Given the description of an element on the screen output the (x, y) to click on. 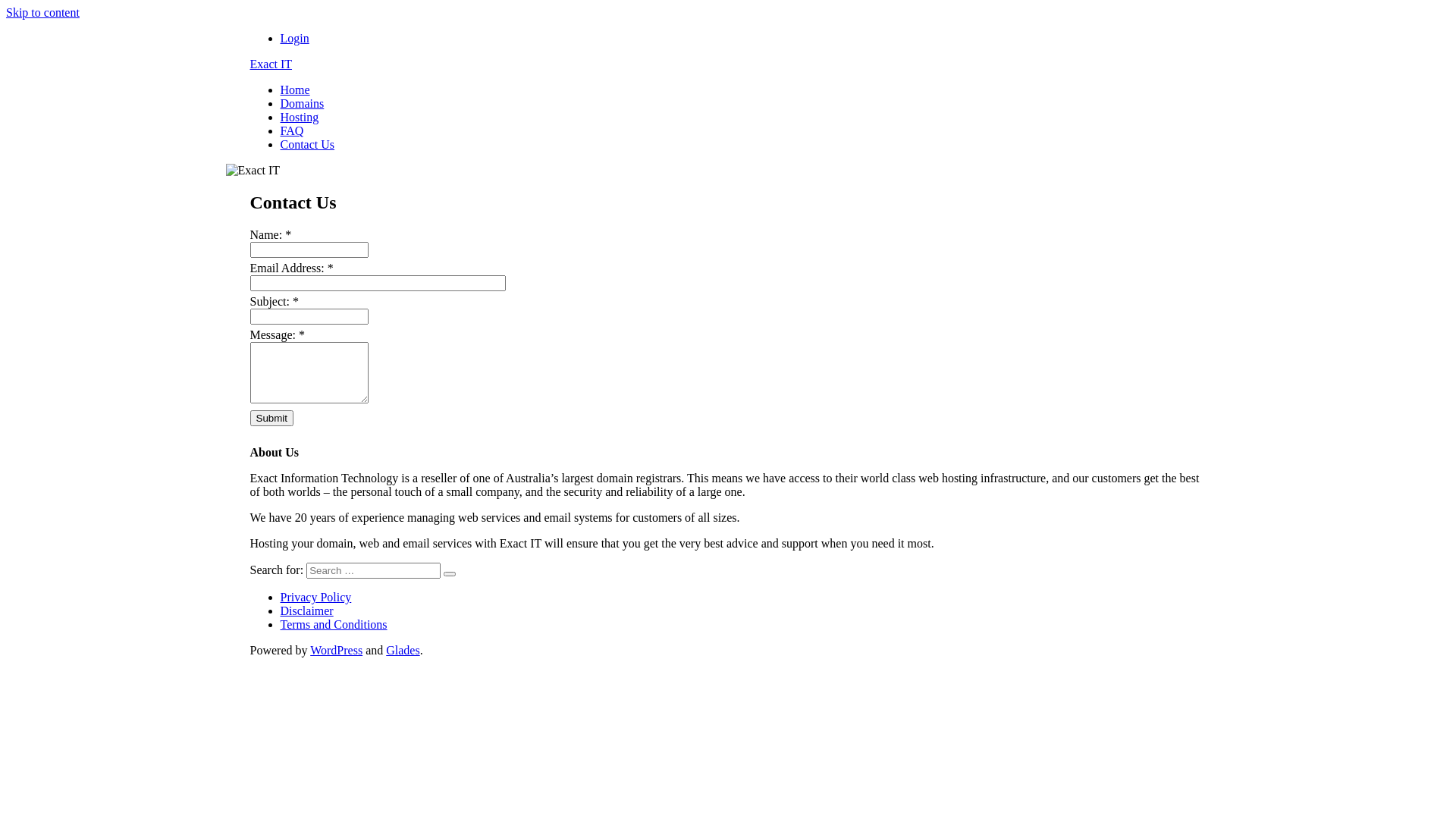
FAQ Element type: text (292, 130)
Disclaimer Element type: text (306, 610)
Privacy Policy Element type: text (315, 596)
Skip to content Element type: text (42, 12)
Submit Element type: text (271, 418)
Hosting Element type: text (299, 116)
Domains Element type: text (302, 103)
Exact IT Element type: text (271, 63)
Contact Us Element type: text (307, 144)
Terms and Conditions Element type: text (333, 624)
WordPress Element type: text (336, 649)
Glades Element type: text (402, 649)
Home Element type: text (295, 89)
Login Element type: text (294, 37)
